Given the description of an element on the screen output the (x, y) to click on. 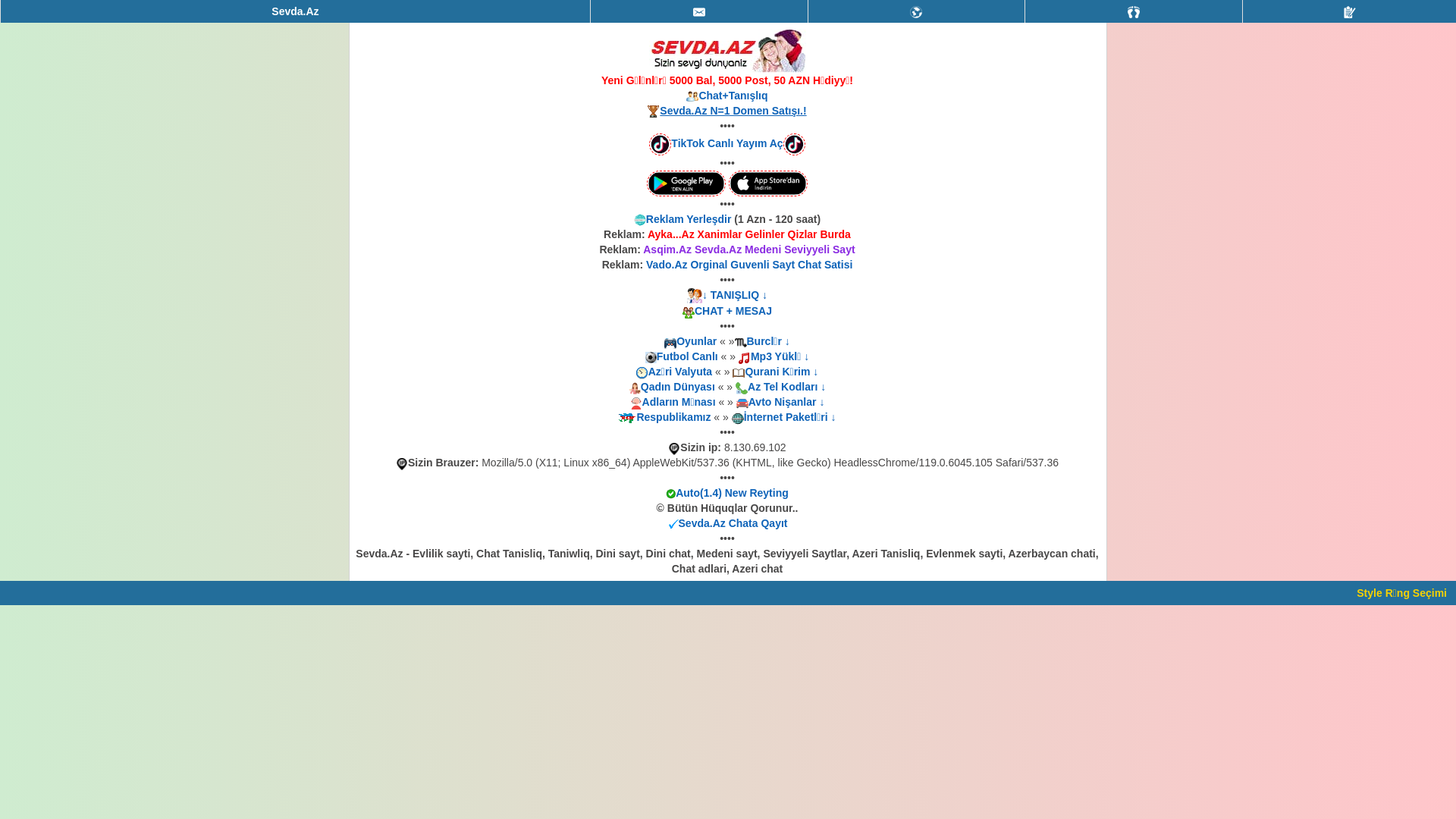
Ayka...Az Xanimlar Gelinler Qizlar Burda Element type: text (748, 234)
Oyunlar Element type: text (696, 341)
Sevda.Az Element type: text (294, 11)
CHAT + MESAJ Element type: text (732, 310)
Mesajlar Element type: hover (699, 12)
Auto(1.4) New Reyting Element type: text (731, 492)
Mektublar Element type: hover (916, 12)
Asqim.Az Sevda.Az Medeni Seviyyeli Sayt Element type: text (748, 249)
Mesajlar Element type: hover (698, 11)
Mektublar Element type: hover (916, 11)
Vado.Az Orginal Guvenli Sayt Chat Satisi Element type: text (749, 264)
Qonaqlar Element type: hover (1133, 11)
Qonaqlar Element type: hover (1133, 12)
